Given the description of an element on the screen output the (x, y) to click on. 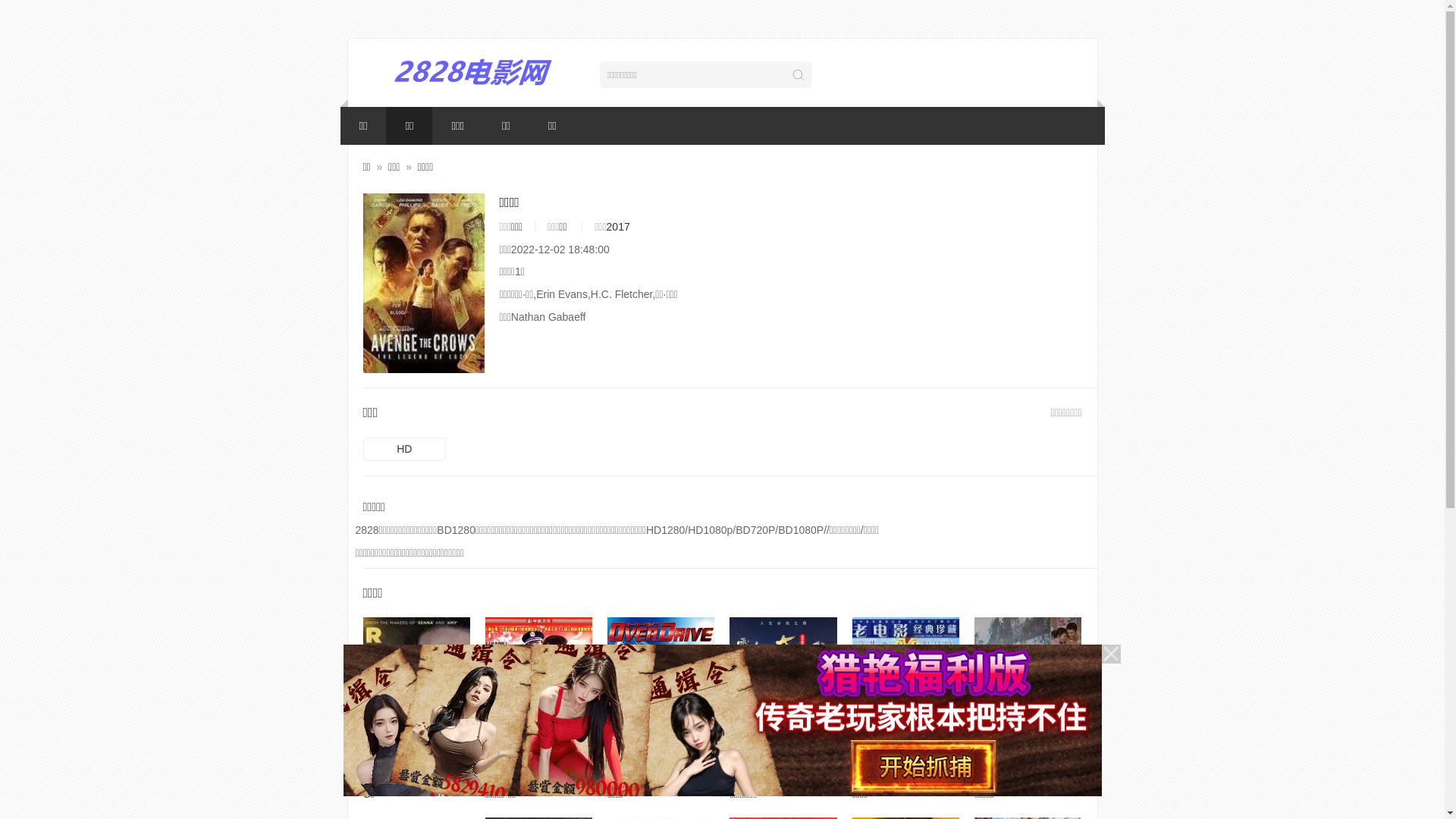
HD Element type: text (403, 449)
HD Element type: text (415, 697)
2017 Element type: text (618, 226)
HD Element type: text (1027, 697)
